Given the description of an element on the screen output the (x, y) to click on. 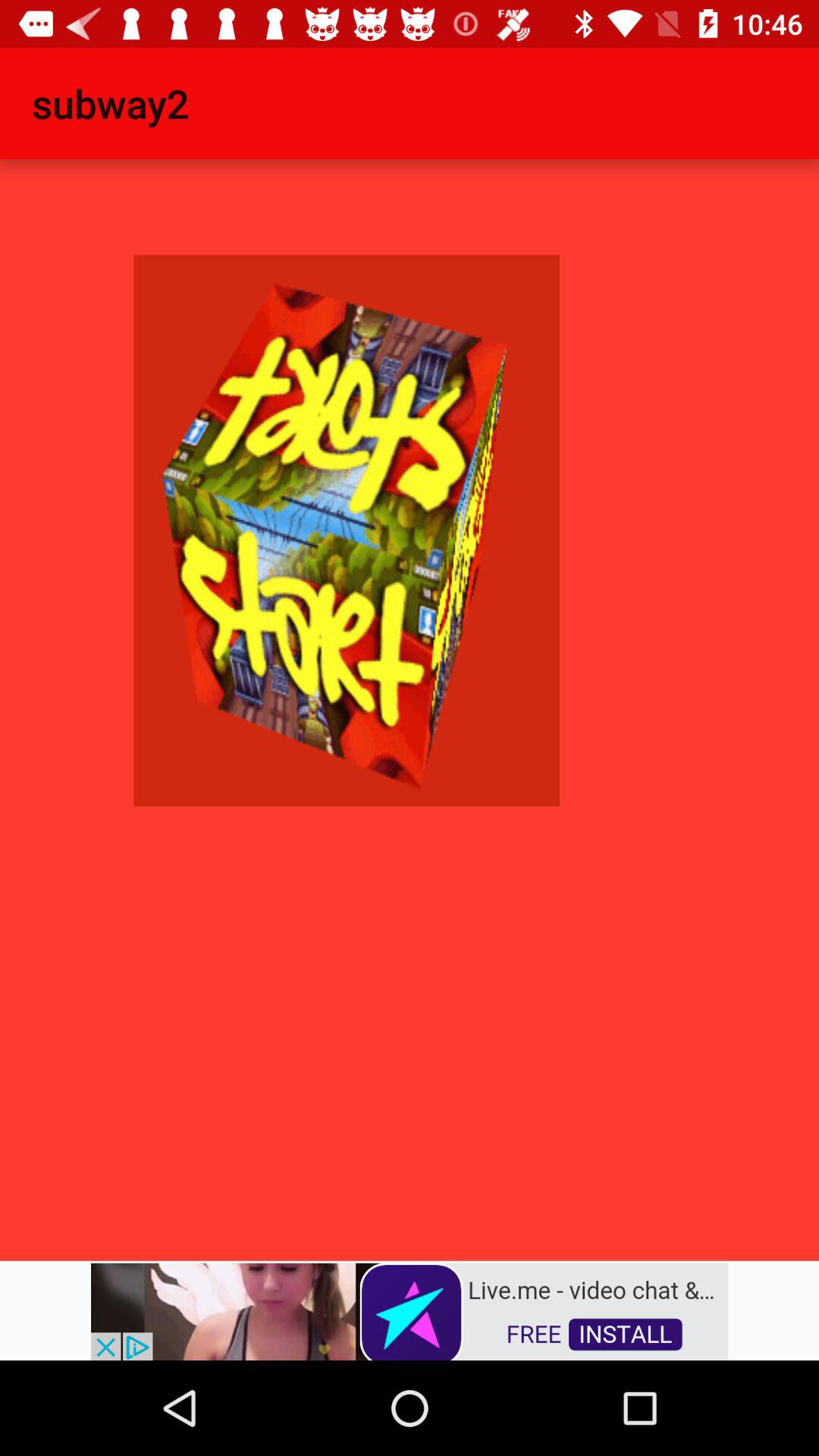
go to advertisement (409, 1310)
